Given the description of an element on the screen output the (x, y) to click on. 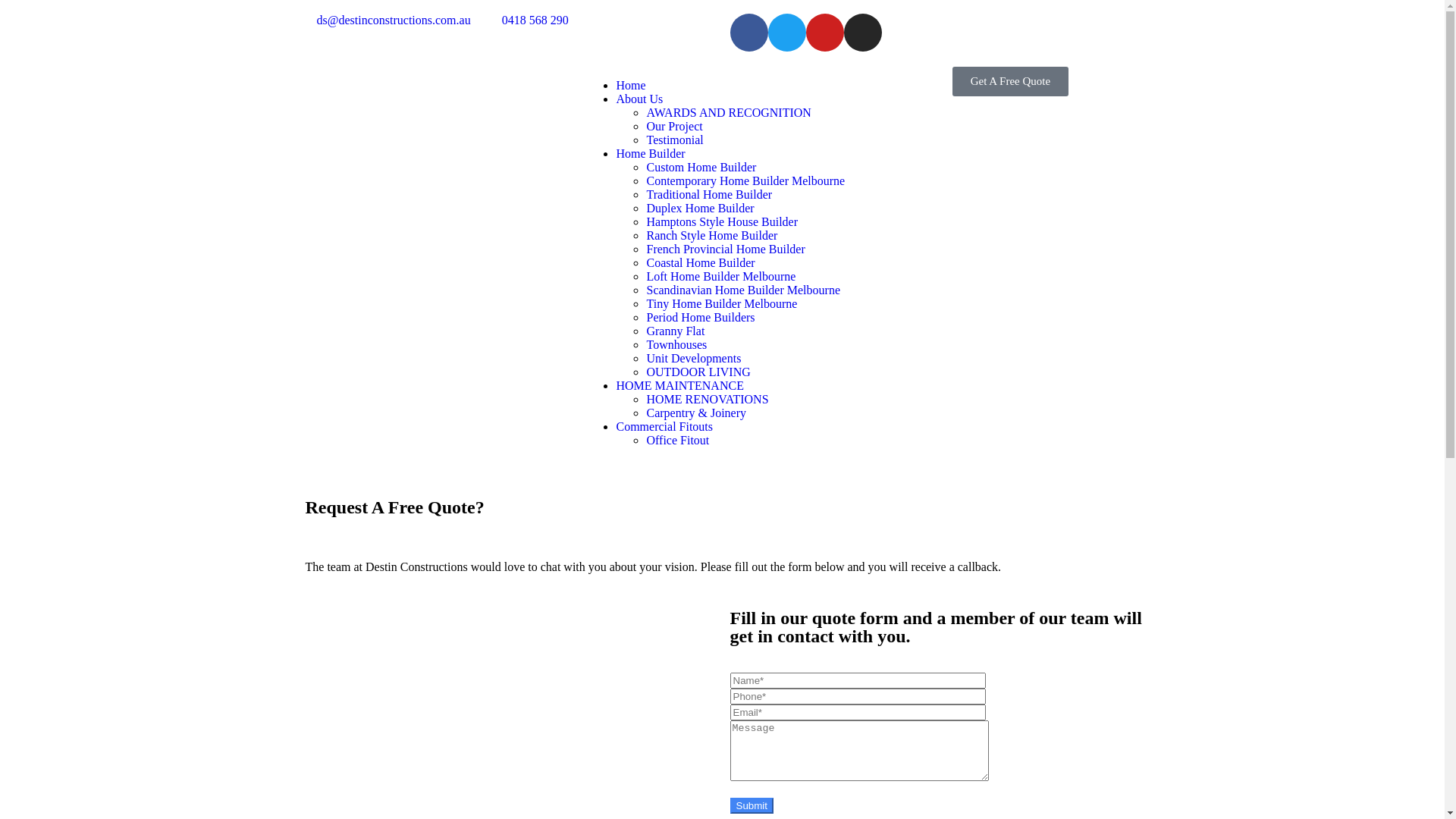
Contemporary Home Builder Melbourne Element type: text (745, 180)
Submit Element type: text (750, 805)
Ranch Style Home Builder Element type: text (711, 235)
Townhouses Element type: text (676, 344)
HOME RENOVATIONS Element type: text (707, 398)
Our Project Element type: text (674, 125)
HOME MAINTENANCE Element type: text (679, 385)
Traditional Home Builder Element type: text (708, 194)
Custom Home Builder Element type: text (701, 166)
Get A Free Quote Element type: text (1010, 81)
ds@destinconstructions.com.au Element type: text (383, 20)
Period Home Builders Element type: text (700, 316)
Loft Home Builder Melbourne Element type: text (720, 275)
Unit Developments Element type: text (693, 357)
Coastal Home Builder Element type: text (700, 262)
OUTDOOR LIVING Element type: text (697, 371)
About Us Element type: text (638, 98)
Home Element type: text (630, 84)
French Provincial Home Builder Element type: text (725, 248)
Tiny Home Builder Melbourne Element type: text (721, 303)
Home Builder Element type: text (649, 153)
Scandinavian Home Builder Melbourne Element type: text (743, 289)
Carpentry & Joinery Element type: text (696, 412)
Office Fitout Element type: text (677, 439)
Testimonial Element type: text (674, 139)
AWARDS AND RECOGNITION Element type: text (728, 112)
0418 568 290 Element type: text (525, 20)
Duplex Home Builder Element type: text (699, 207)
Granny Flat Element type: text (675, 330)
Hamptons Style House Builder Element type: text (721, 221)
Commercial Fitouts Element type: text (663, 426)
